Given the description of an element on the screen output the (x, y) to click on. 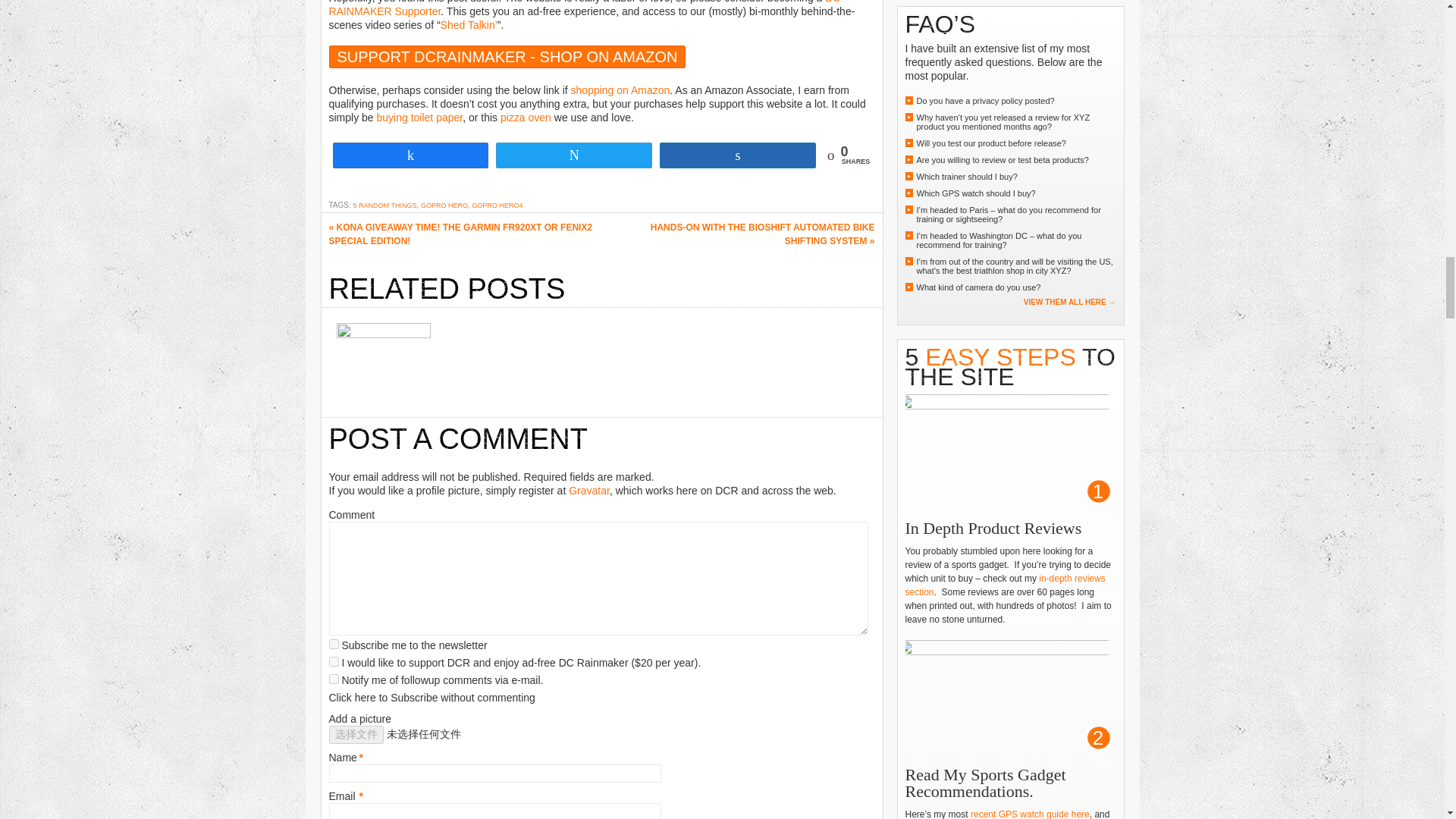
on (334, 644)
on (334, 661)
1 (334, 678)
